Given the description of an element on the screen output the (x, y) to click on. 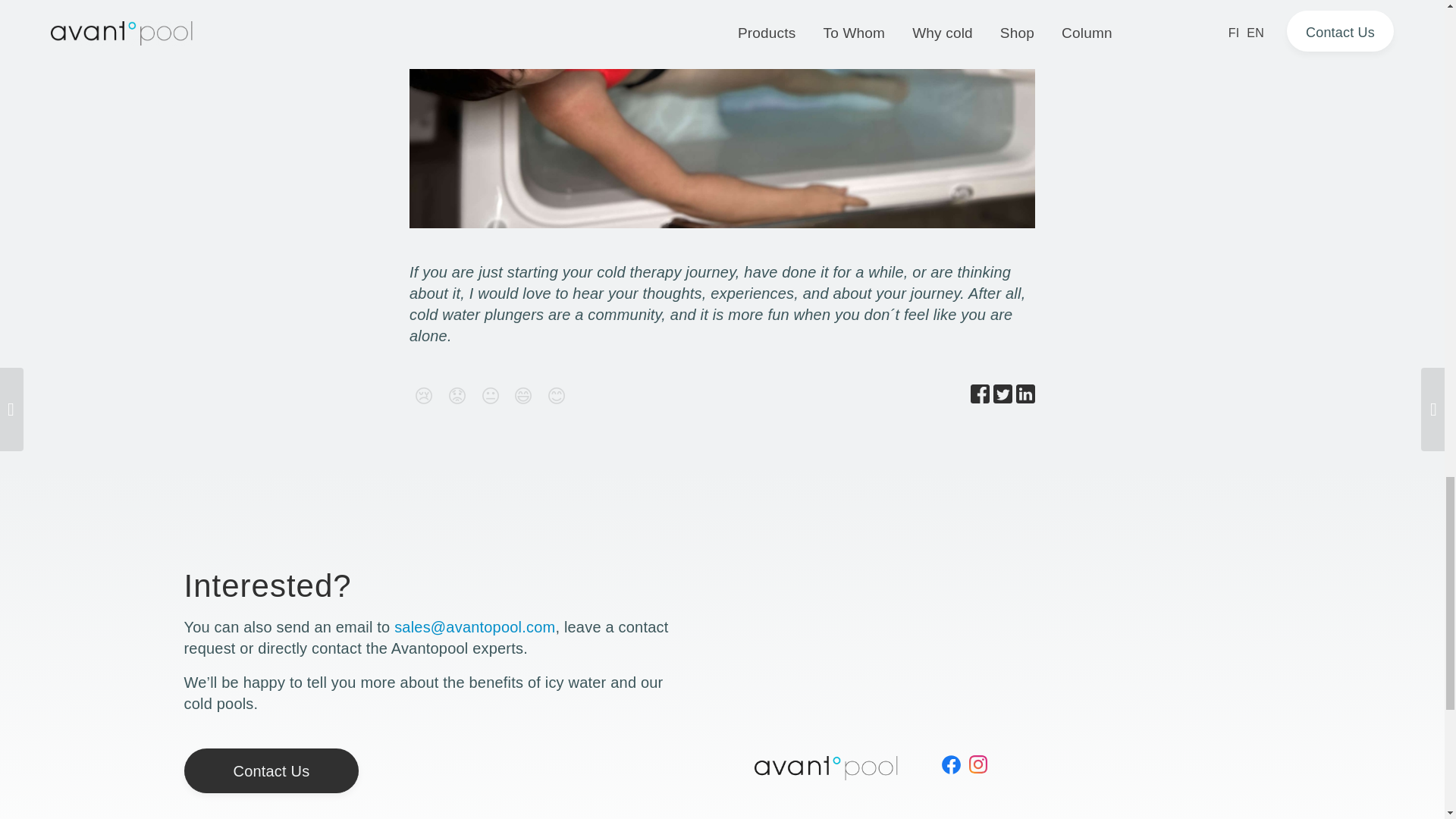
Avantopool logo (826, 767)
Contact Us (270, 770)
